Given the description of an element on the screen output the (x, y) to click on. 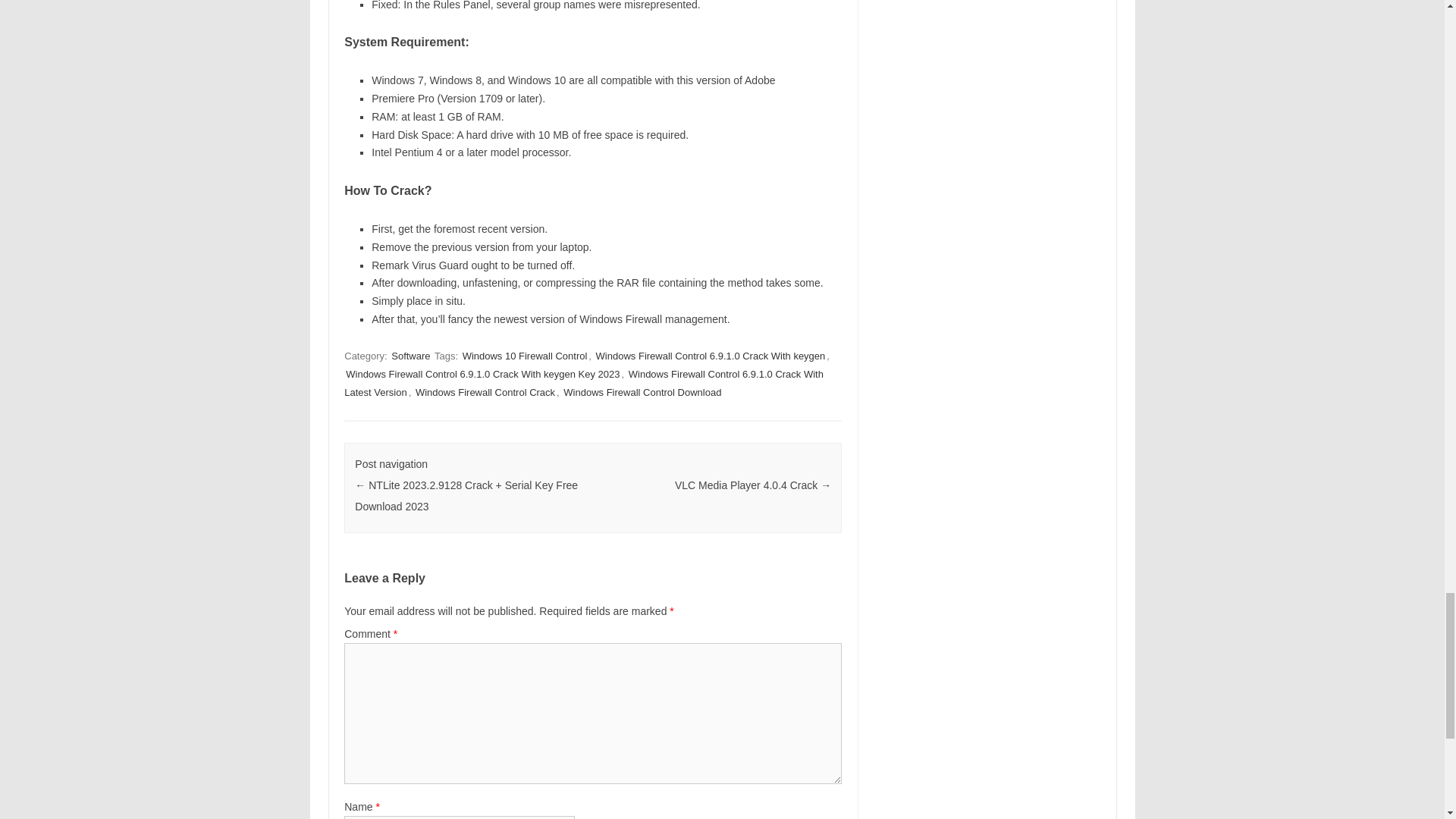
Windows 10 Firewall Control (525, 355)
Windows Firewall Control Crack (484, 391)
Windows Firewall Control 6.9.1.0 Crack With Latest Version (583, 382)
Windows Firewall Control Download (642, 391)
Software (410, 355)
Windows Firewall Control 6.9.1.0 Crack With keygen Key 2023 (482, 373)
Windows Firewall Control 6.9.1.0 Crack With keygen (710, 355)
